Given the description of an element on the screen output the (x, y) to click on. 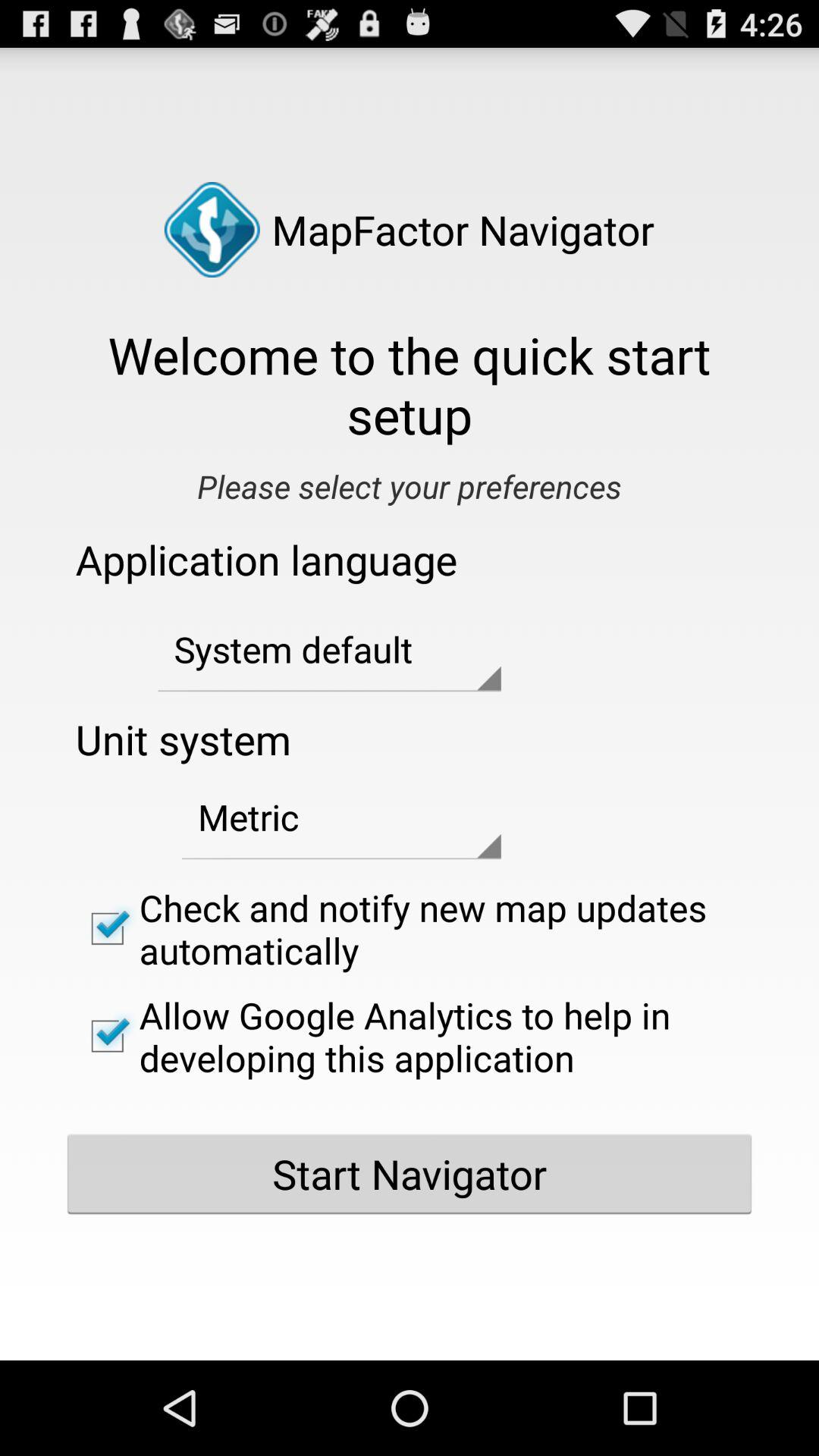
open the icon below the allow google analytics icon (409, 1173)
